Given the description of an element on the screen output the (x, y) to click on. 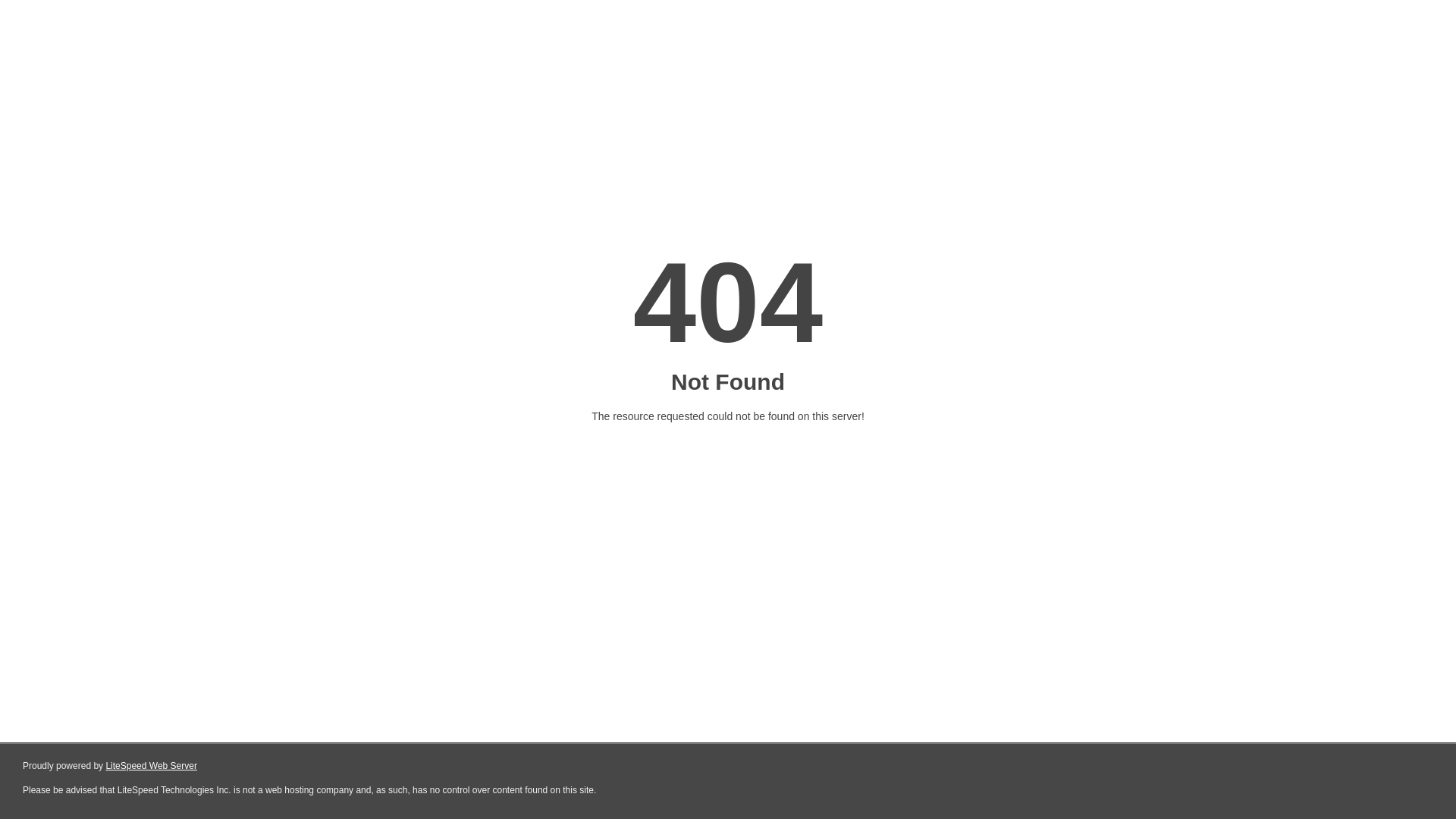
LiteSpeed Web Server Element type: text (151, 765)
